Given the description of an element on the screen output the (x, y) to click on. 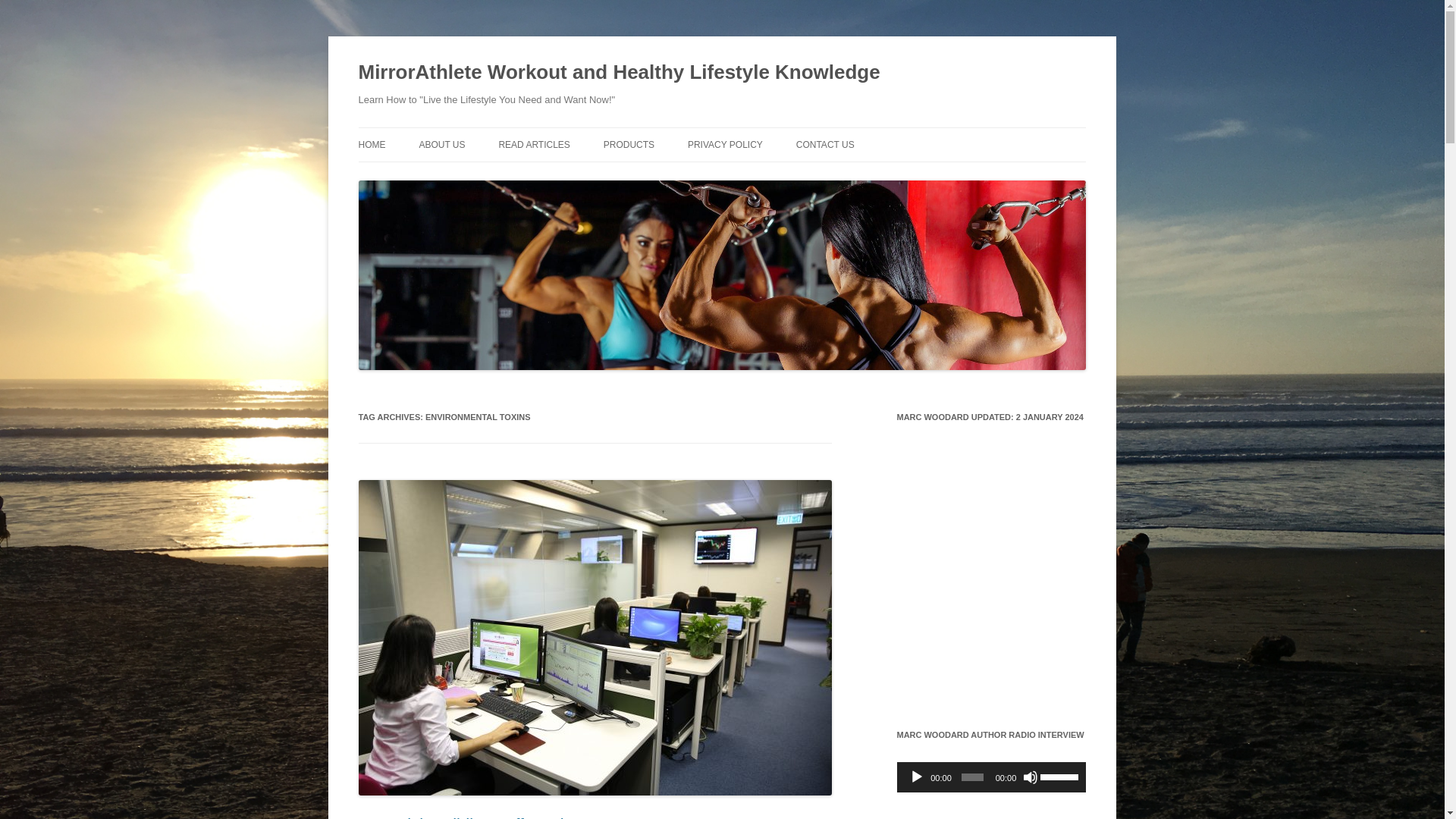
AUDIO BOOK READINGS (494, 176)
SUBMIT ARTICLES (573, 176)
CONTACT US (825, 144)
READ ARTICLES (533, 144)
ABOUT US (441, 144)
PRIVACY POLICY (724, 144)
MirrorAthlete Workout and Healthy Lifestyle Knowledge (618, 72)
DISCLOSURE (763, 176)
How Sick Buildings Affect Lives (473, 816)
RECOMMENDED INDOOR AND OUTDOOR EXERCISE EQUIPMENT (679, 195)
PRODUCTS (628, 144)
